Given the description of an element on the screen output the (x, y) to click on. 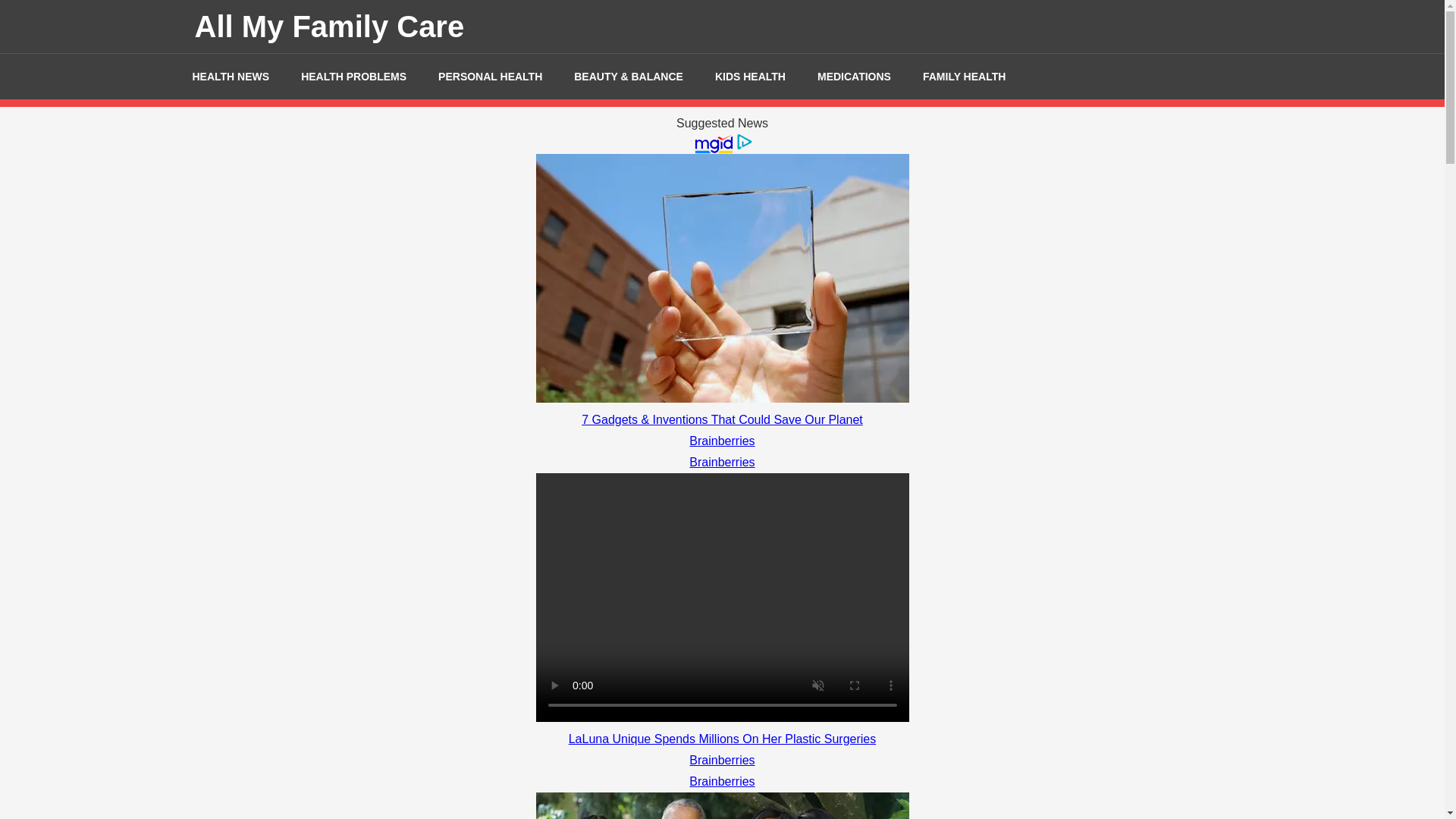
FAMILY HEALTH (964, 76)
KIDS HEALTH (750, 76)
MEDICATIONS (854, 76)
HEALTH NEWS (230, 76)
PERSONAL HEALTH (489, 76)
All My Family Care (328, 26)
HEALTH PROBLEMS (353, 76)
